Given the description of an element on the screen output the (x, y) to click on. 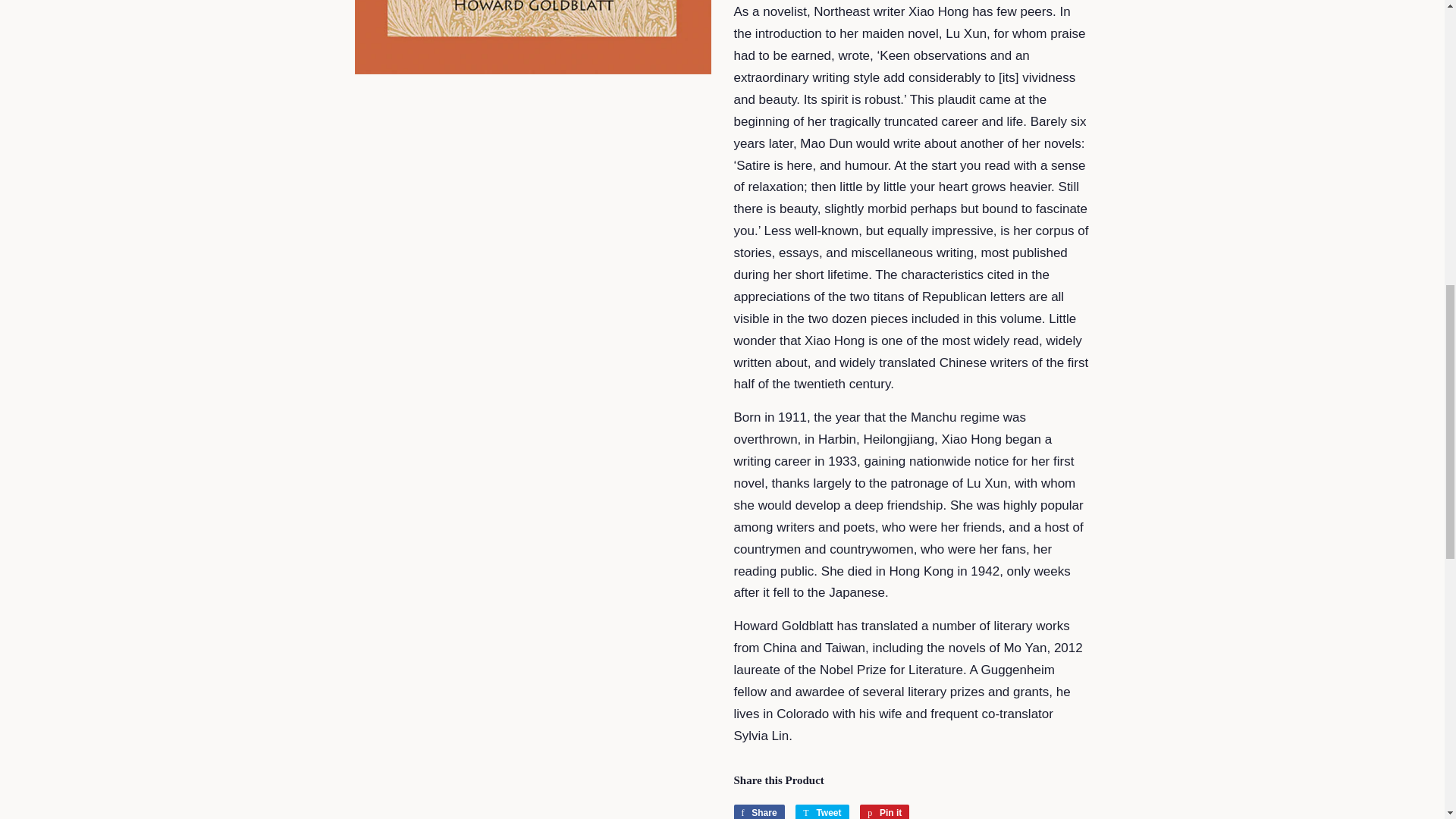
Tweet on Twitter (821, 811)
Pin on Pinterest (884, 811)
Share on Facebook (758, 811)
